Given the description of an element on the screen output the (x, y) to click on. 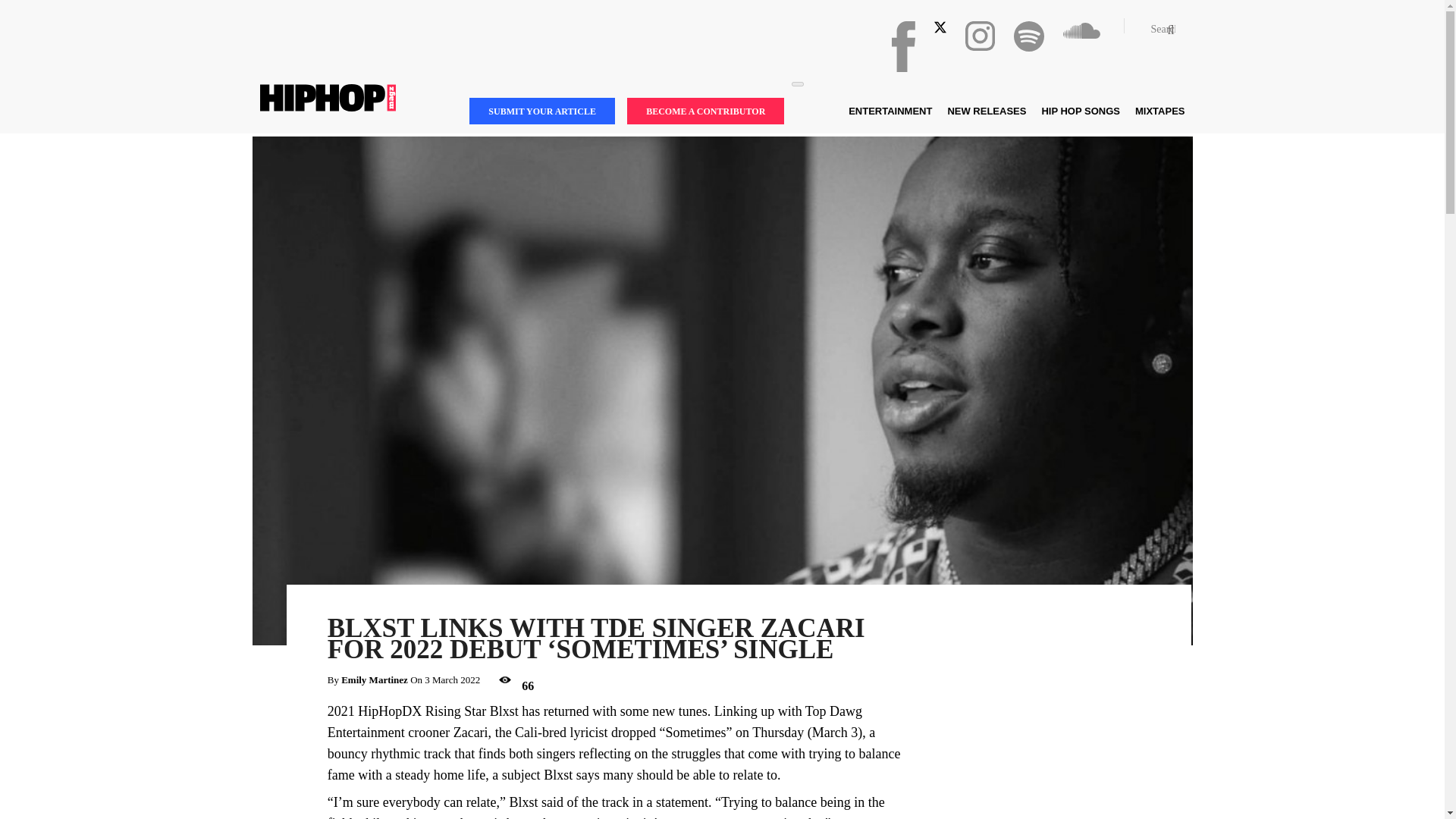
Toggle navigation (797, 83)
Blxst (557, 774)
Emily Martinez (373, 679)
MIXTAPES (1159, 111)
ENTERTAINMENT (890, 111)
Zacari, (472, 732)
NEW RELEASES (986, 111)
Posts by Emily Martinez (373, 679)
HIP HOP SONGS (1079, 111)
2021 HipHopDX Rising Star Blxst (422, 711)
Submit (28, 14)
